Given the description of an element on the screen output the (x, y) to click on. 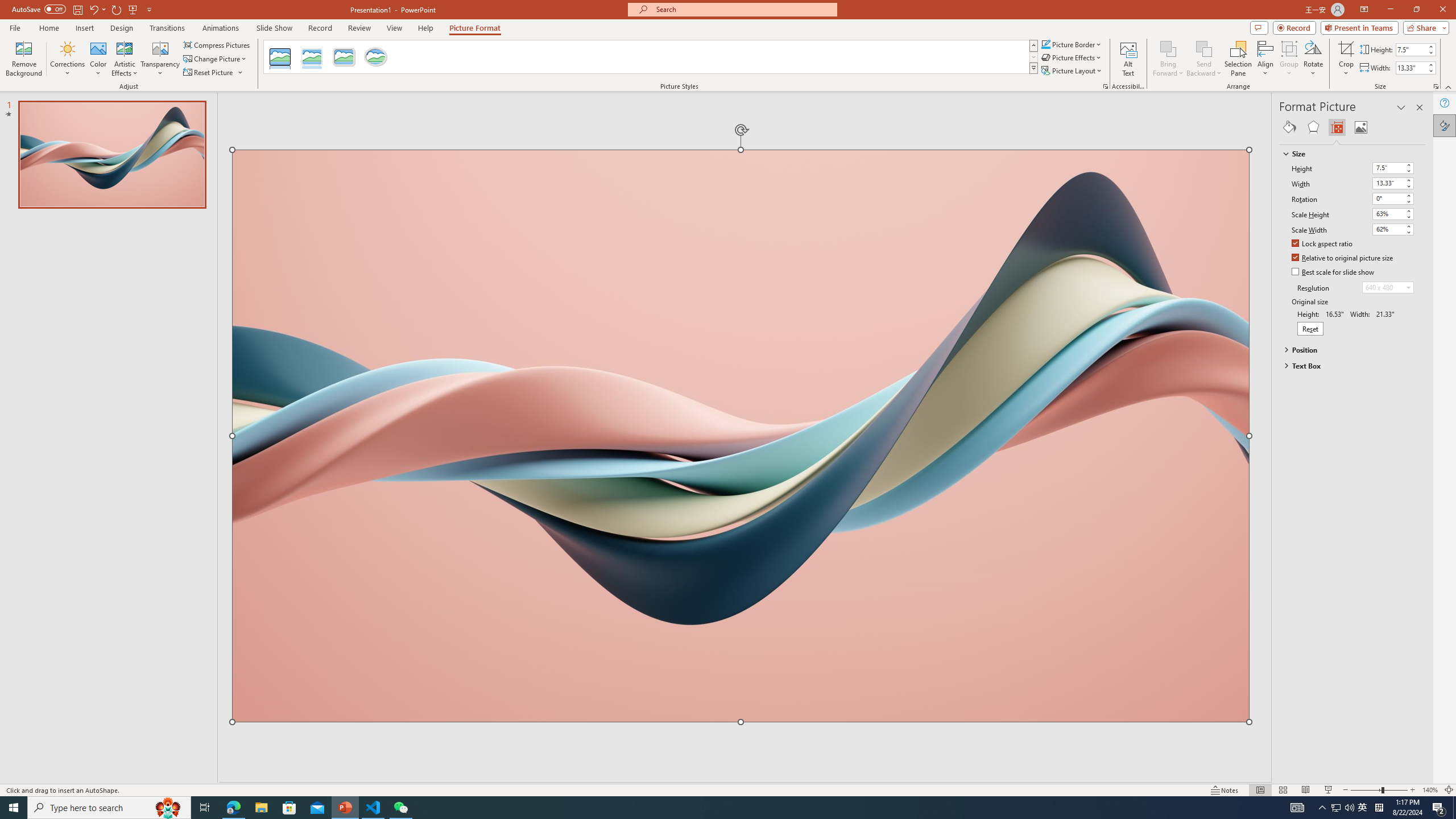
Rotation (1388, 198)
Picture Border Blue, Accent 1 (1045, 44)
Change Picture (216, 58)
Rotation (1393, 198)
Transparency (160, 58)
Size and Position... (1435, 85)
Alt Text (1128, 58)
